Given the description of an element on the screen output the (x, y) to click on. 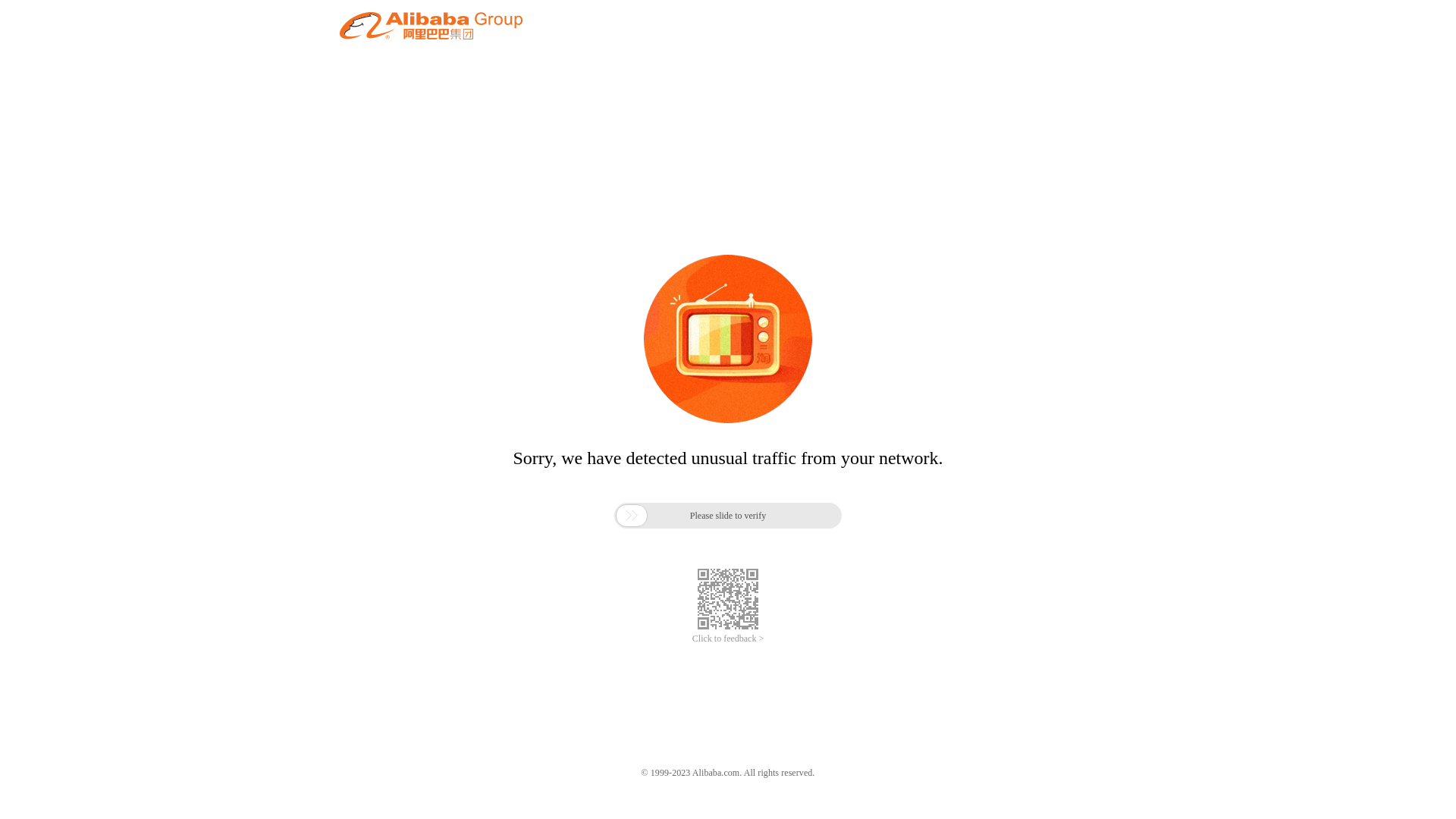
Click to feedback > Element type: text (727, 638)
